Given the description of an element on the screen output the (x, y) to click on. 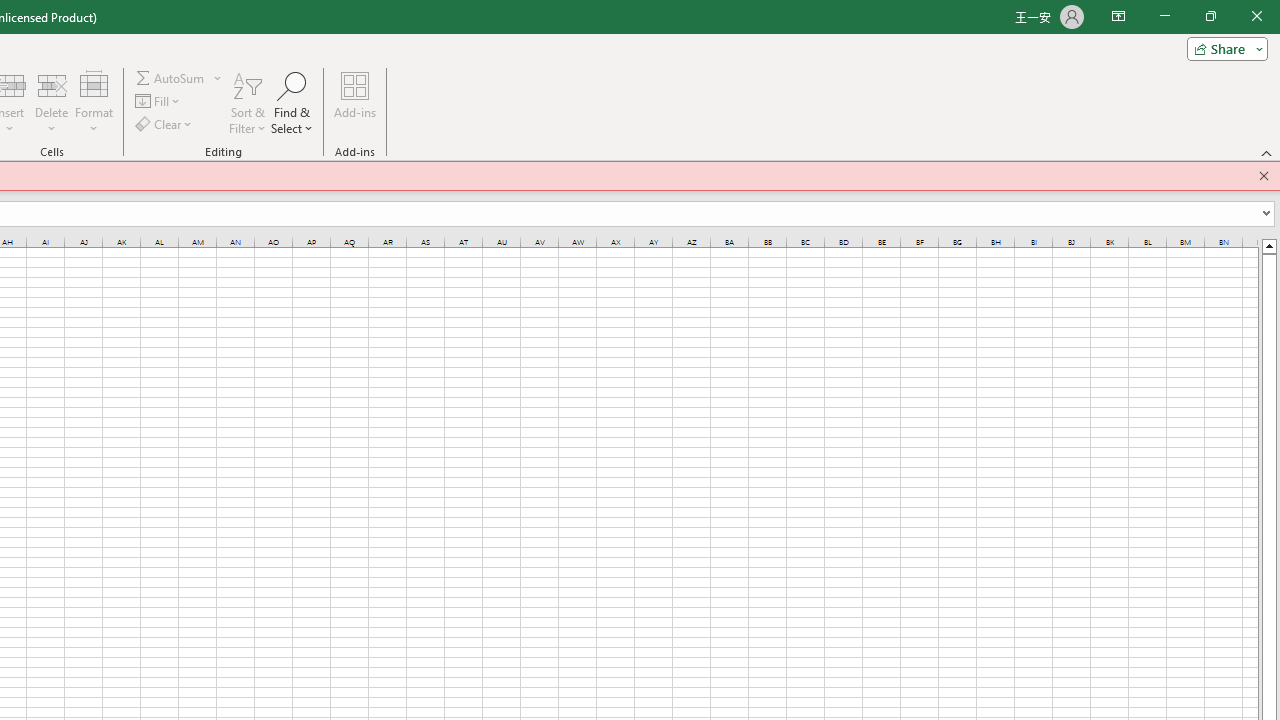
Sum (171, 78)
AutoSum (178, 78)
